Given the description of an element on the screen output the (x, y) to click on. 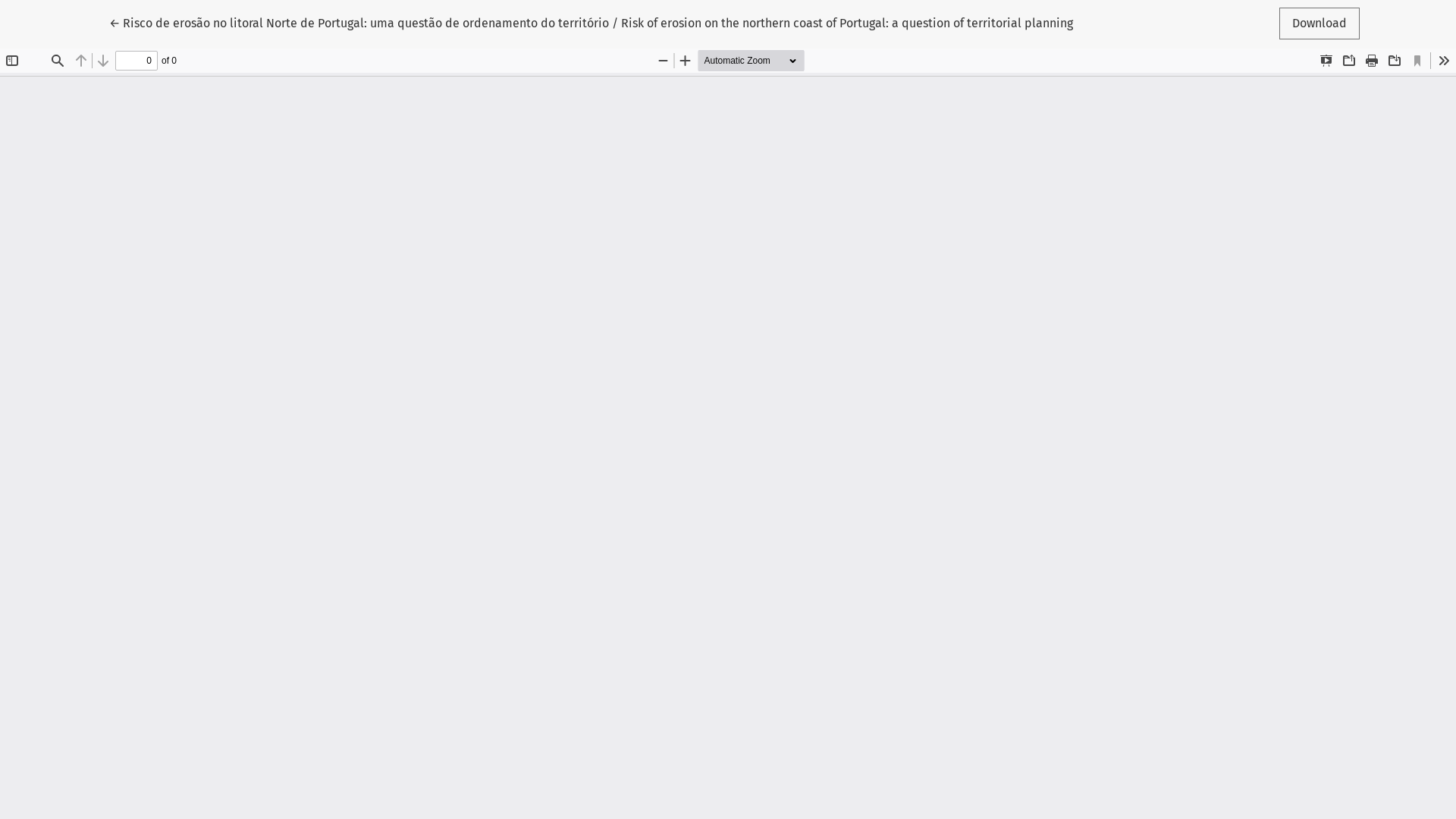
Download Element type: text (1319, 23)
